Given the description of an element on the screen output the (x, y) to click on. 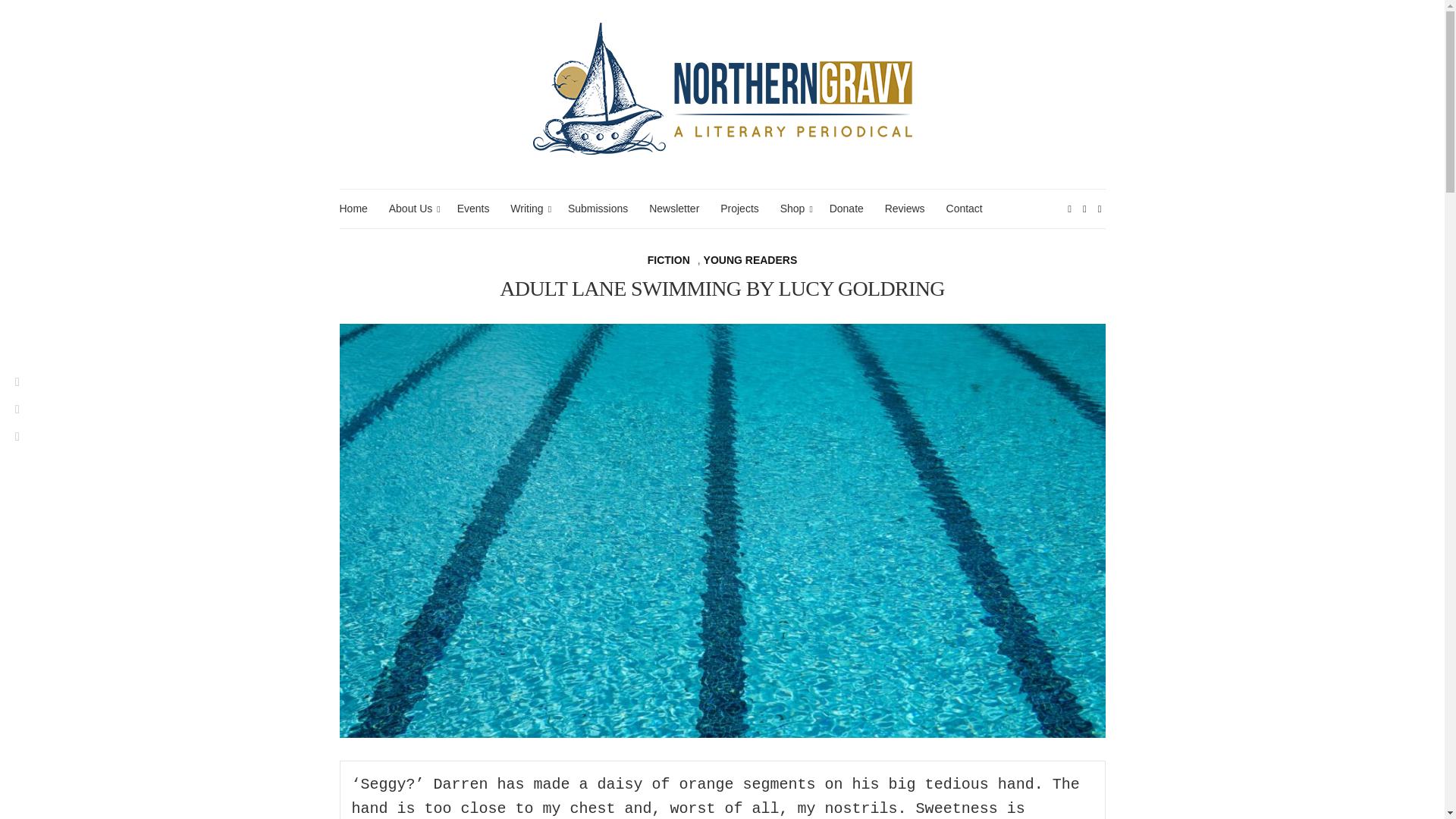
Writing (529, 208)
Shop (794, 208)
Contact (964, 208)
Newsletter (673, 208)
Donate (846, 208)
Home (353, 208)
Reviews (904, 208)
Events (473, 208)
Projects (739, 208)
Submissions (597, 208)
